Given the description of an element on the screen output the (x, y) to click on. 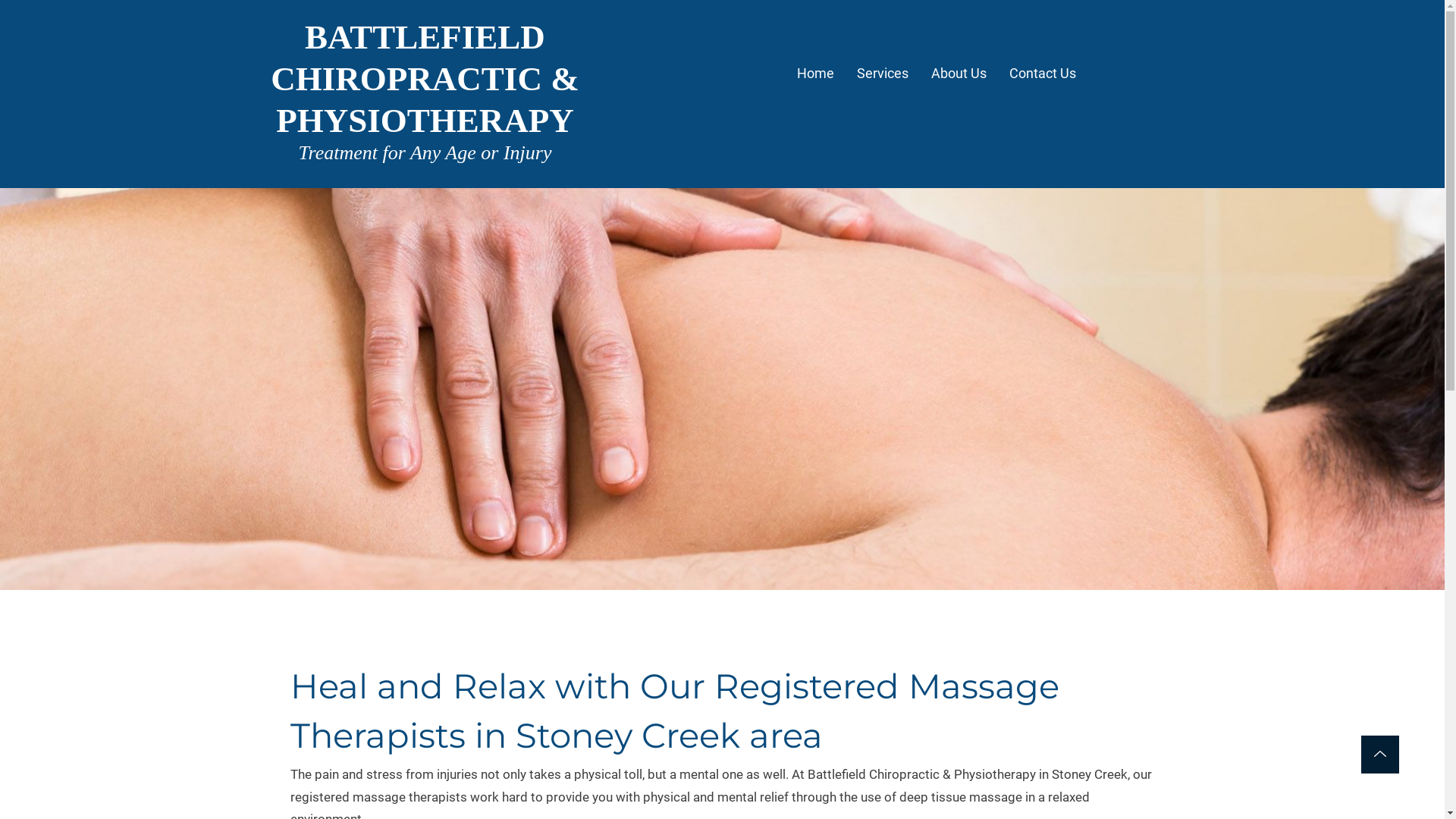
BATTLEFIELD CHIROPRACTIC & PHYSIOTHERAPY Element type: text (424, 78)
About Us Element type: text (958, 74)
Home Element type: text (815, 74)
Contact Us Element type: text (1042, 74)
Services Element type: text (882, 74)
